Given the description of an element on the screen output the (x, y) to click on. 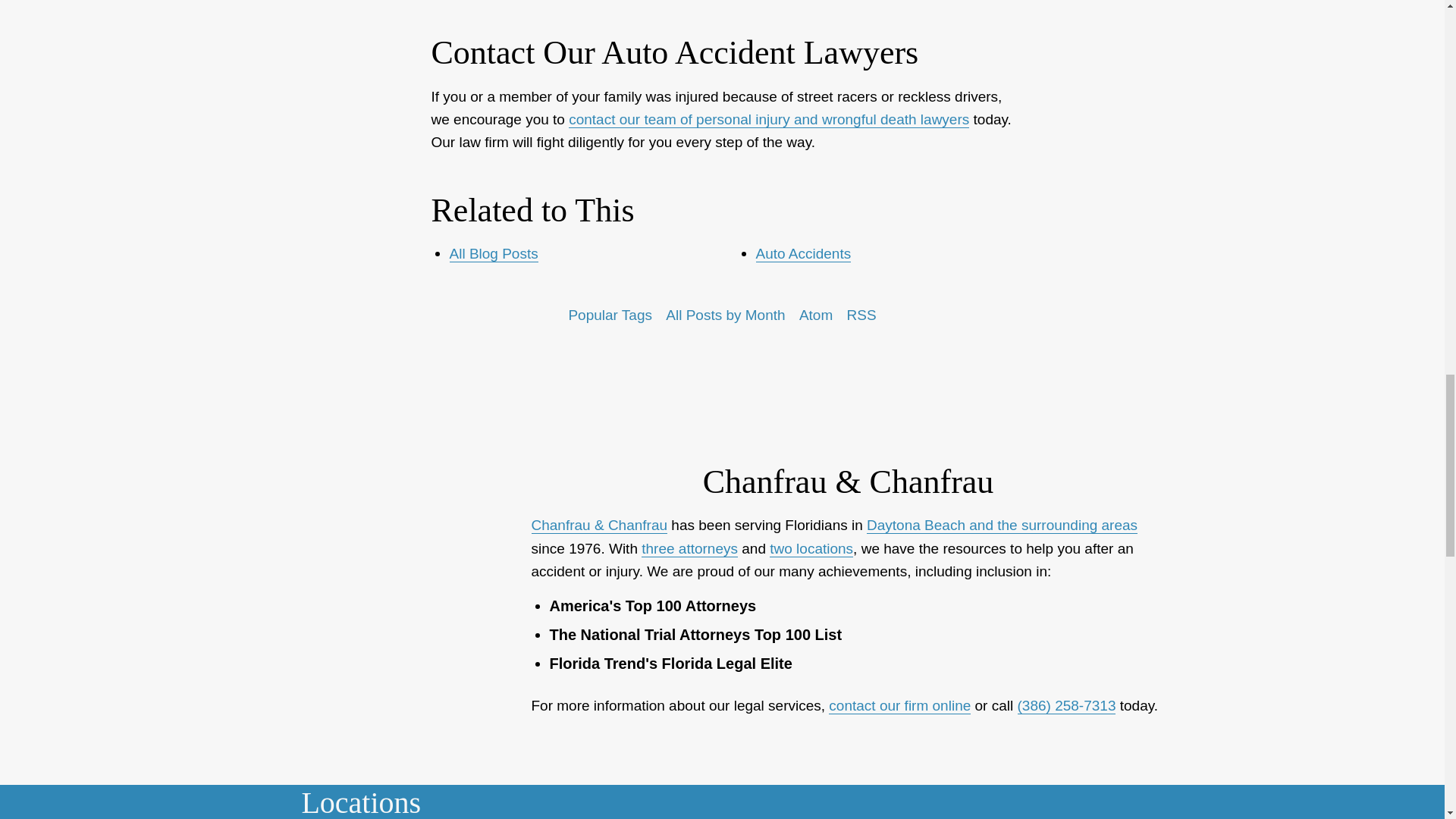
Atom (816, 315)
Locations (840, 795)
three attorneys (690, 548)
two locations (811, 548)
RSS (861, 315)
Auto Accidents (802, 253)
All Blog Posts (492, 253)
Daytona Beach and the surrounding areas (1001, 524)
contact our firm online (899, 705)
